Given the description of an element on the screen output the (x, y) to click on. 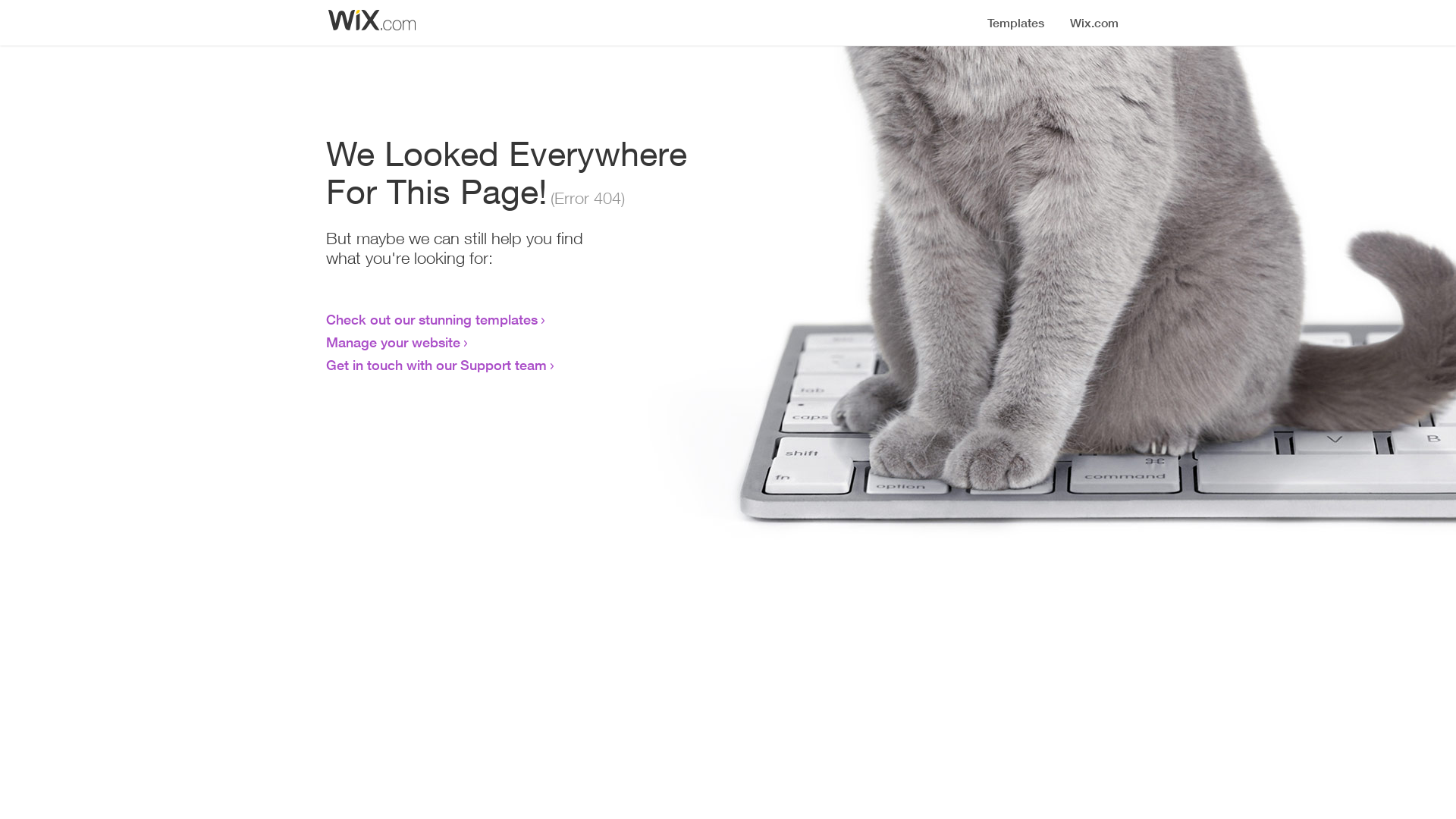
Manage your website Element type: text (393, 341)
Check out our stunning templates Element type: text (431, 318)
Get in touch with our Support team Element type: text (436, 364)
